Given the description of an element on the screen output the (x, y) to click on. 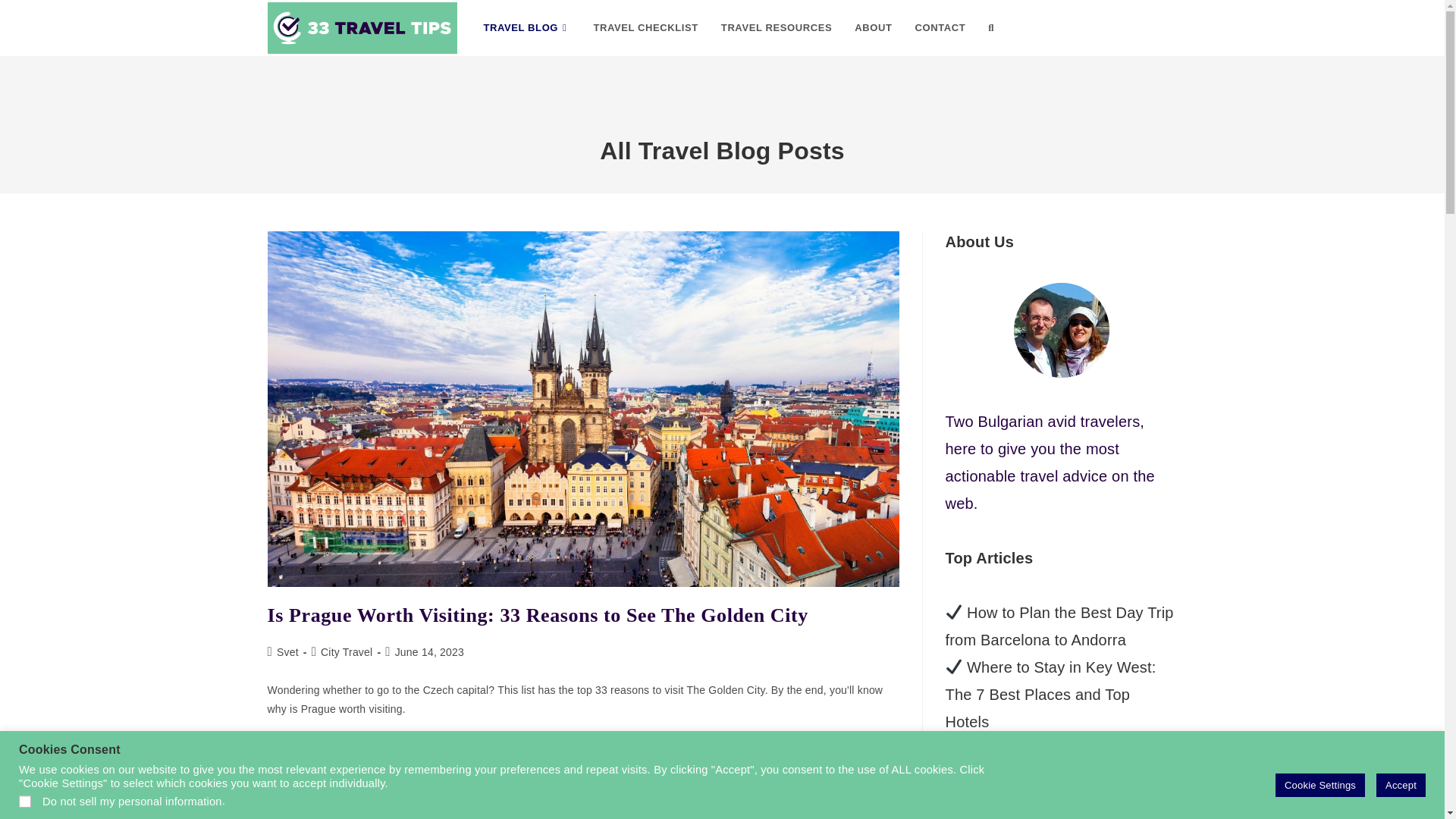
TRAVEL BLOG (525, 28)
CONTACT (939, 28)
TRAVEL CHECKLIST (644, 28)
on (24, 801)
ABOUT (872, 28)
Posts by Svet (287, 652)
TRAVEL RESOURCES (776, 28)
